Given the description of an element on the screen output the (x, y) to click on. 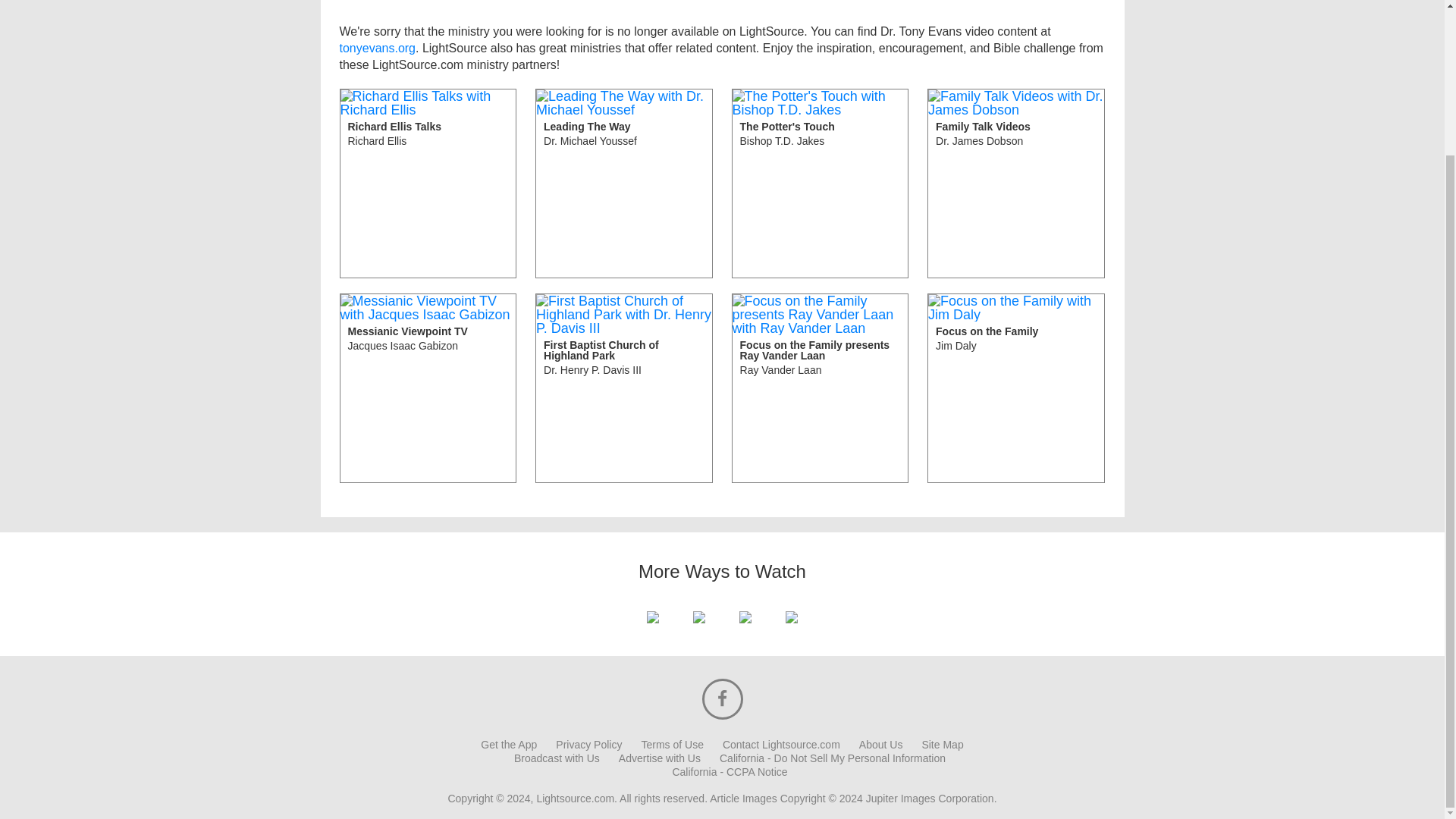
Contact Lightsource.com (1016, 388)
Advertise with Us (781, 744)
California - Do Not Sell My Personal Information (624, 388)
Privacy Policy (1016, 183)
Get the App (659, 757)
tonyevans.org (831, 757)
Broadcast with Us (588, 744)
Terms of Use (508, 744)
